Given the description of an element on the screen output the (x, y) to click on. 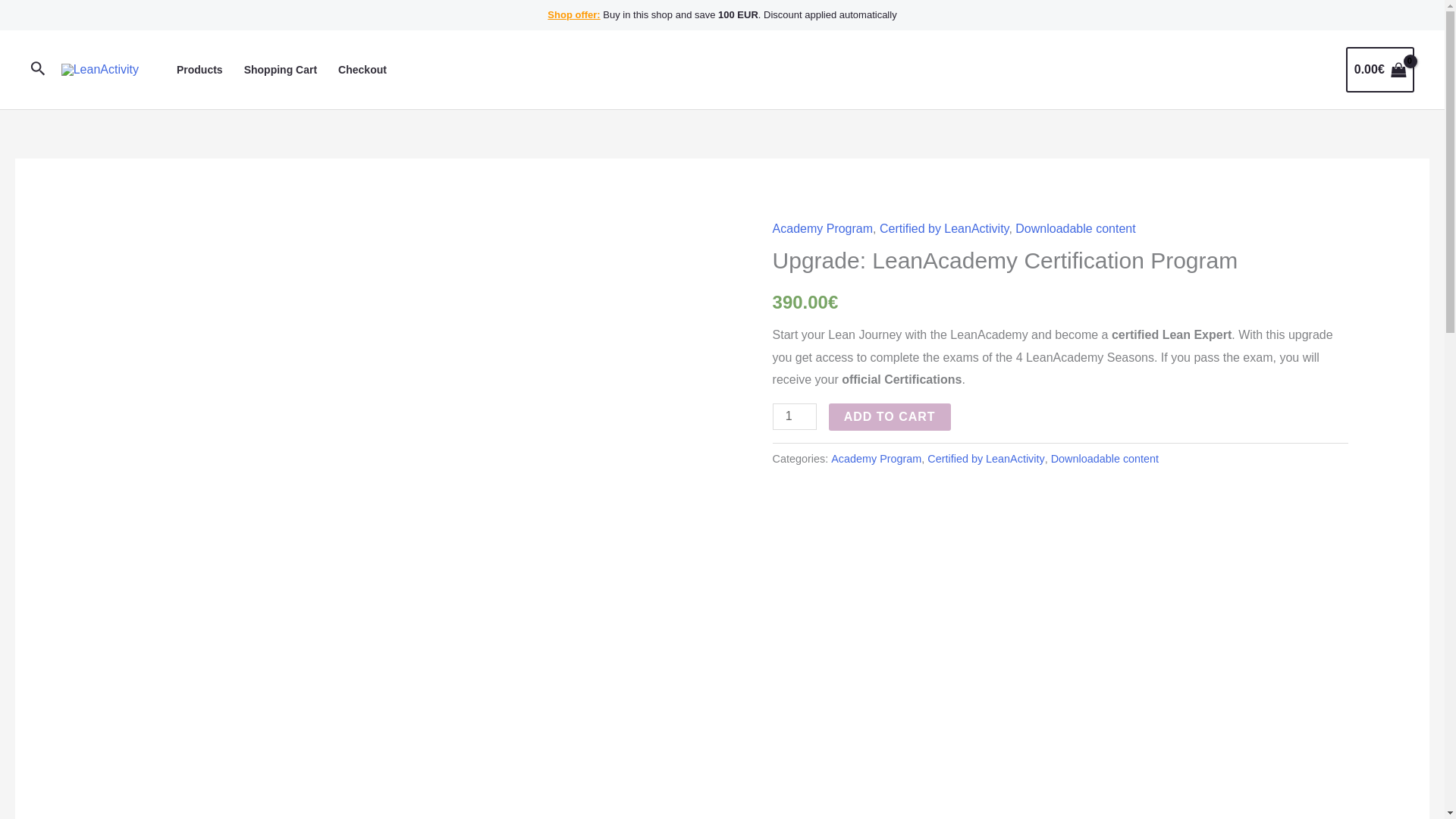
Certified by LeanActivity (985, 458)
Academy Program (876, 458)
Certified by LeanActivity (944, 228)
Products (198, 69)
Shopping Cart (279, 69)
Search (38, 69)
Downloadable content (1074, 228)
1 (794, 416)
Academy Program (823, 228)
Checkout (357, 69)
Downloadable content (1104, 458)
ADD TO CART (889, 416)
